Given the description of an element on the screen output the (x, y) to click on. 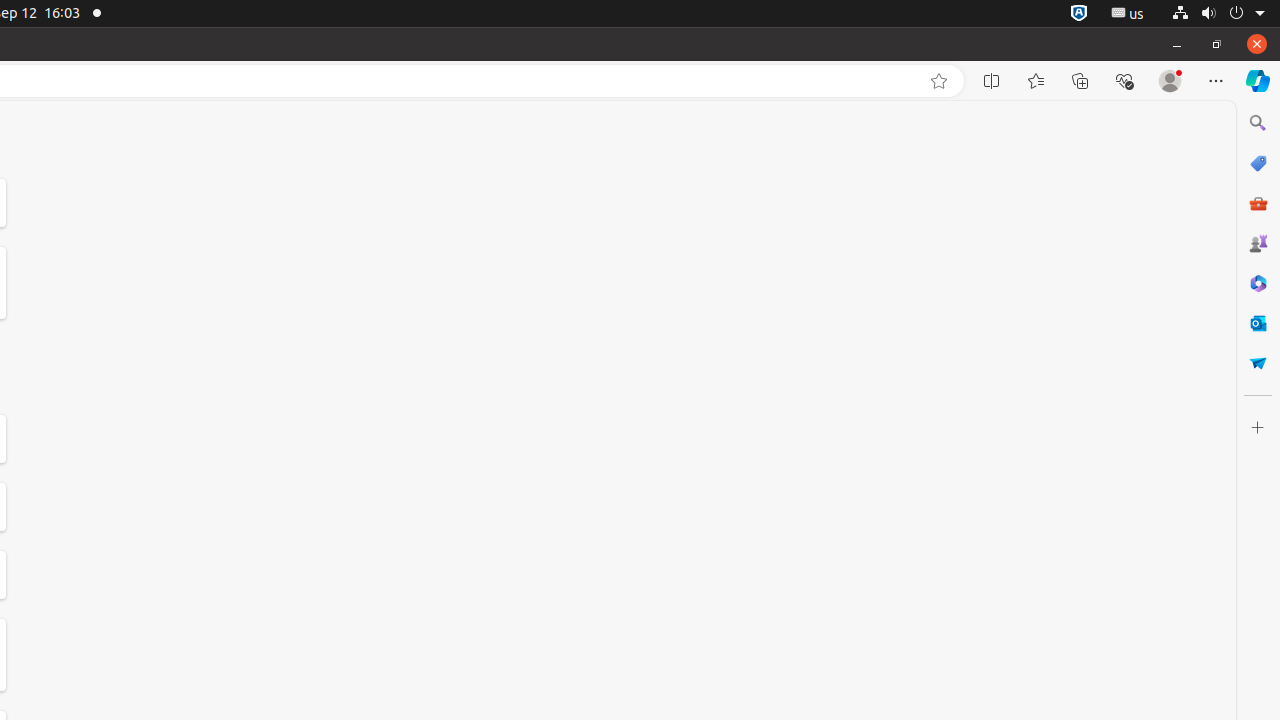
Split screen Element type: push-button (992, 81)
Add this page to favorites (Ctrl+D) Element type: push-button (939, 81)
Settings and more (Alt+F) Element type: push-button (1216, 81)
Copilot (Ctrl+Shift+.) Element type: push-button (1258, 81)
Browser essentials Element type: push-button (1124, 81)
